Given the description of an element on the screen output the (x, y) to click on. 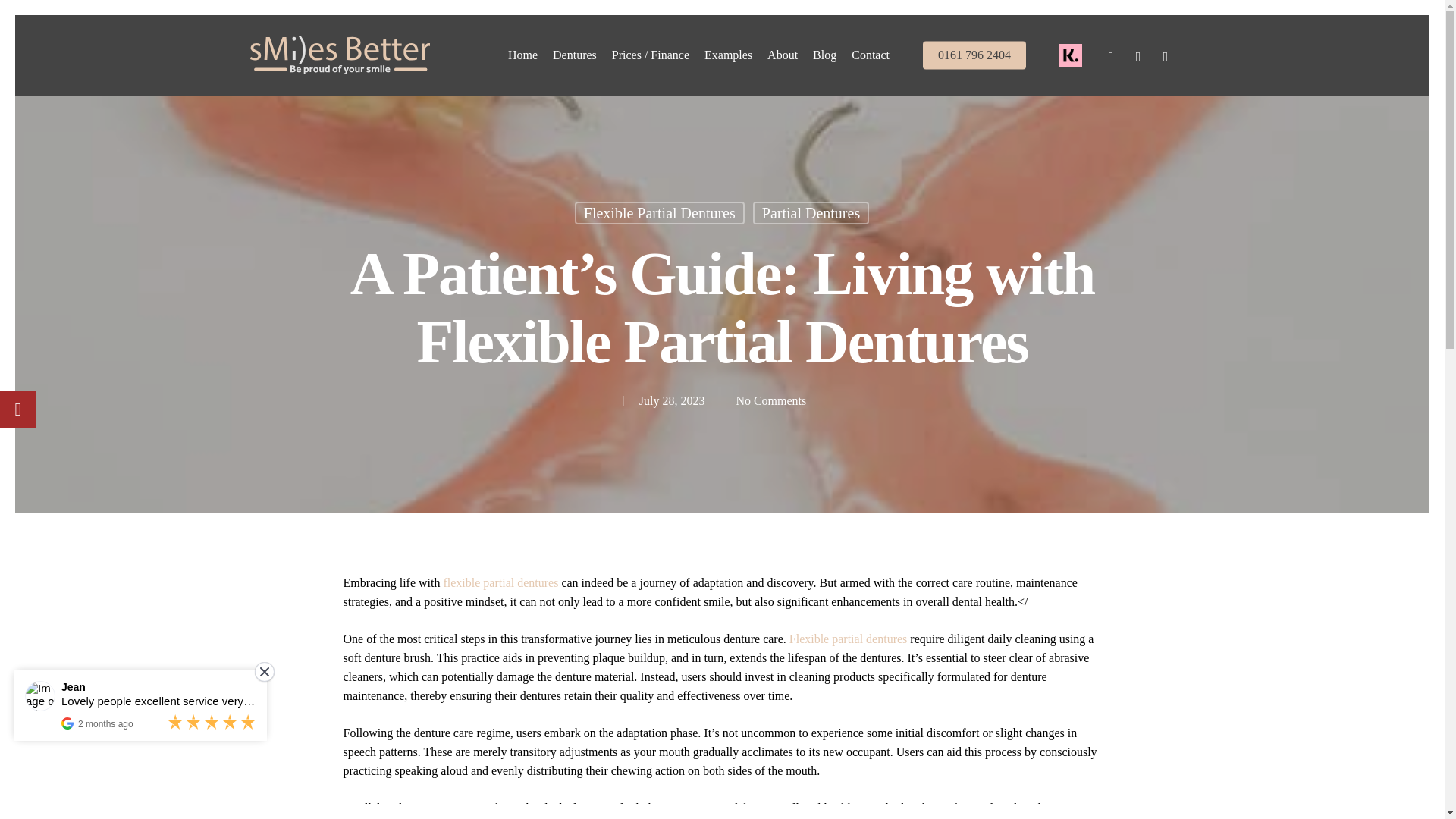
0161 796 2404 (973, 54)
Contact (870, 54)
Blog (824, 54)
Dentures (574, 54)
Home (522, 54)
Flexible partial dentures (848, 638)
instagram (1165, 54)
Contact us (870, 54)
youtube (1137, 54)
Dentures (574, 54)
facebook (1110, 54)
No Comments (770, 400)
About (782, 54)
Flexible Partial Dentures (659, 212)
flexible partial dentures (499, 582)
